Given the description of an element on the screen output the (x, y) to click on. 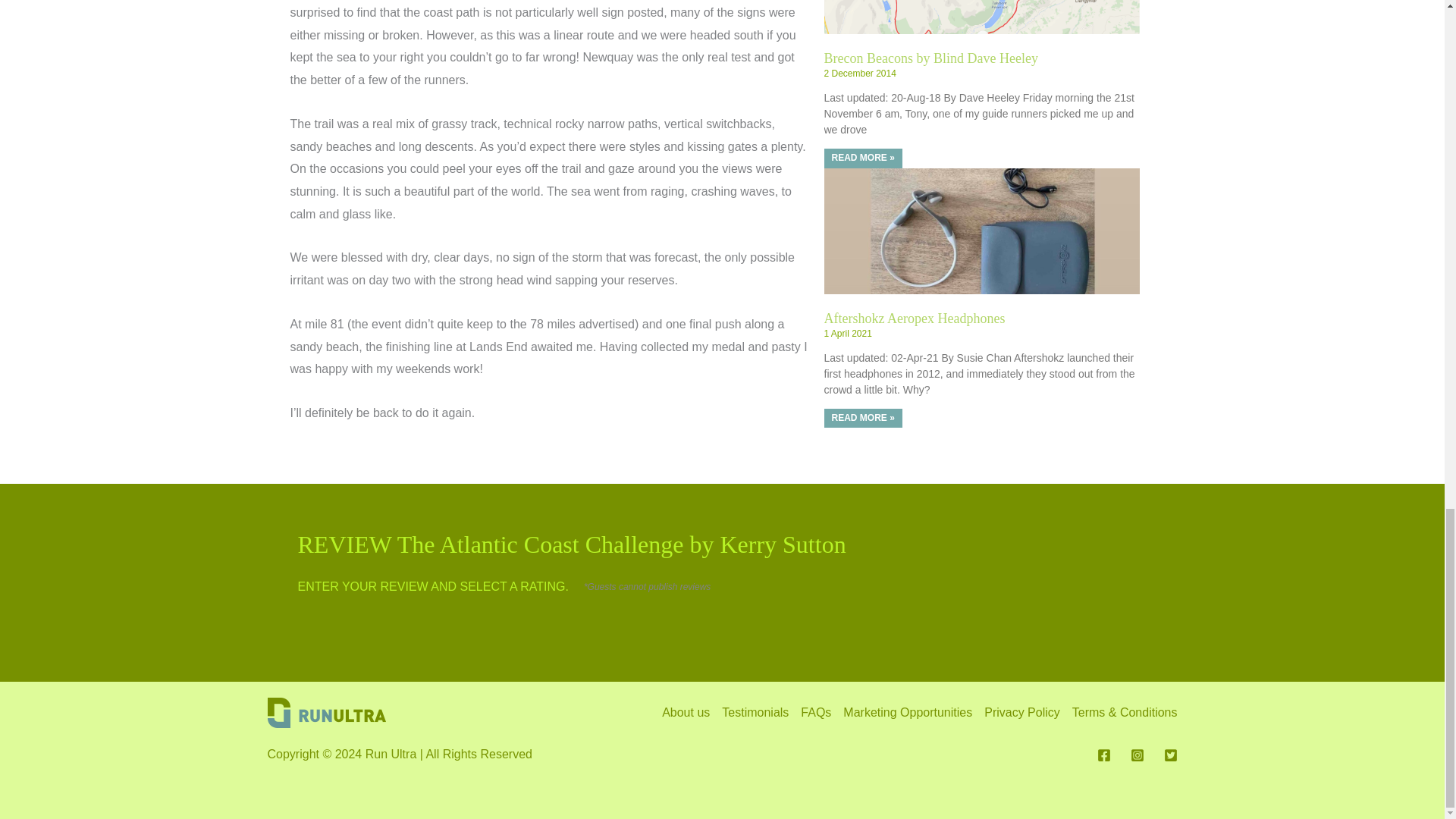
Brecon Beacons by Blind Dave Heeley (930, 58)
Aftershokz Aeropex Headphones (914, 318)
